Given the description of an element on the screen output the (x, y) to click on. 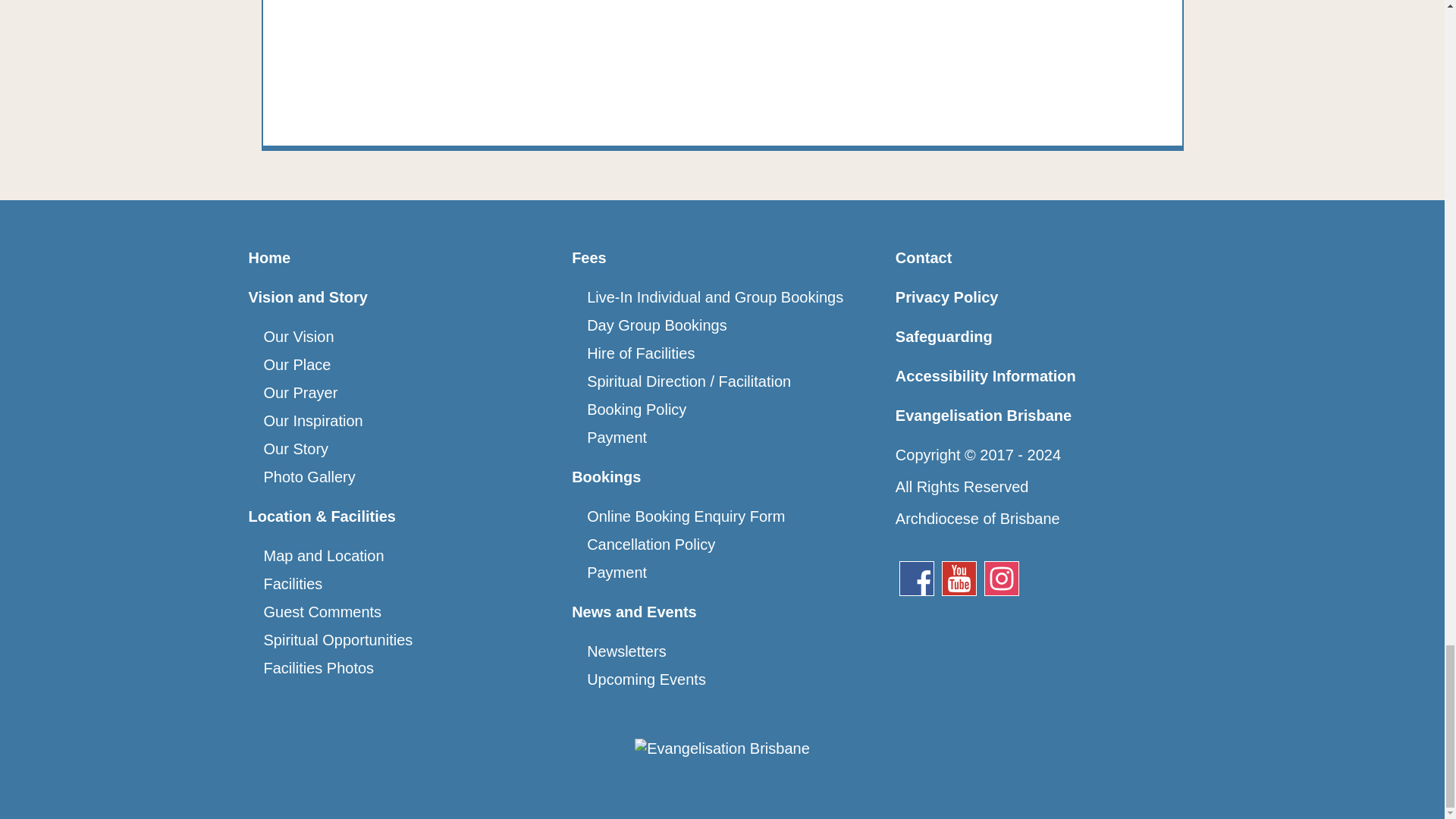
Facebook (923, 583)
YouTube (958, 578)
Instagram (1001, 578)
